Given the description of an element on the screen output the (x, y) to click on. 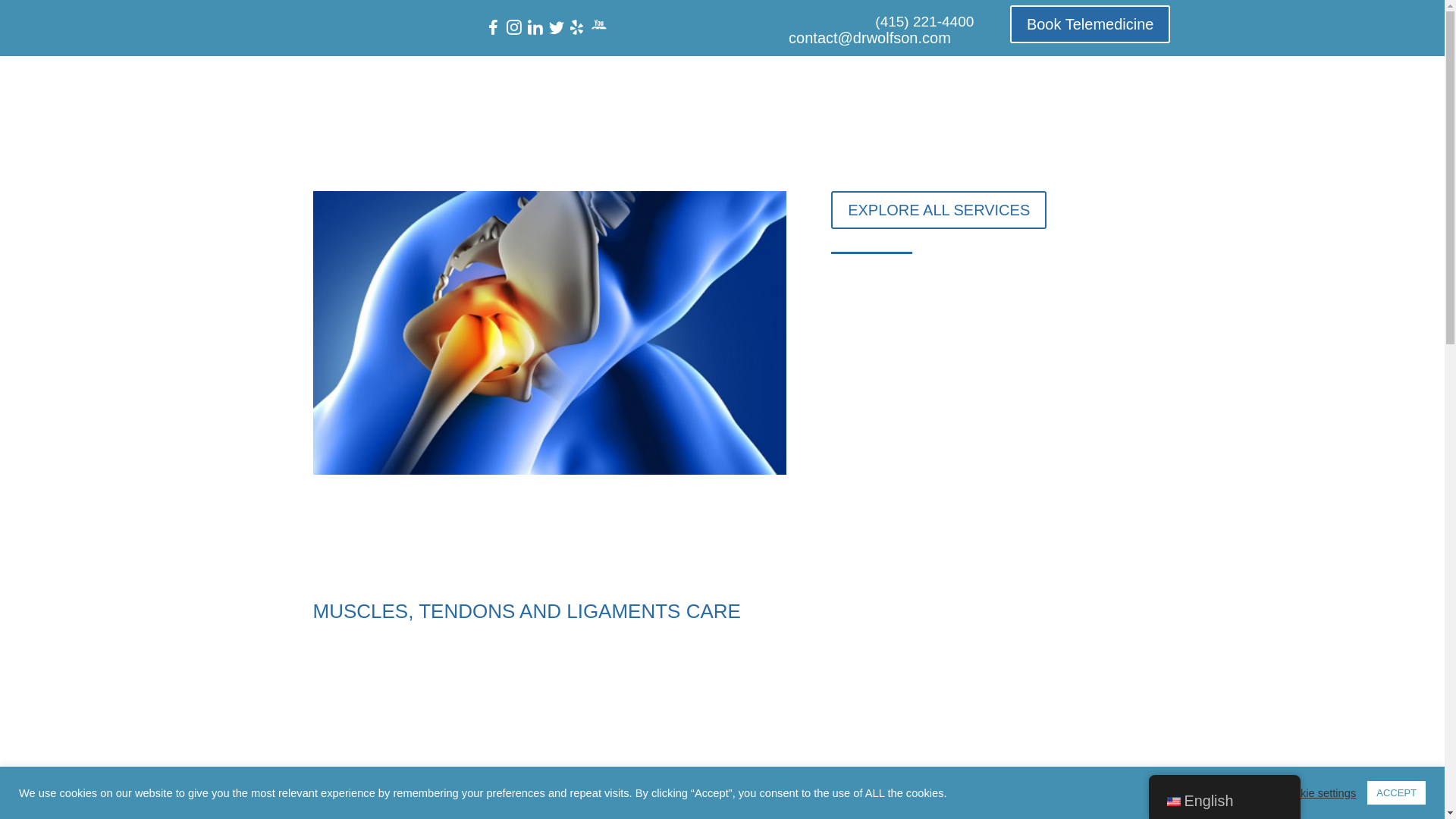
Follow on  (513, 27)
Follow on  (577, 27)
Follow on  (492, 27)
Follow on  (535, 27)
Follow on  (599, 27)
Book Telemedicine (1090, 23)
Follow on  (556, 27)
English (1172, 800)
